Given the description of an element on the screen output the (x, y) to click on. 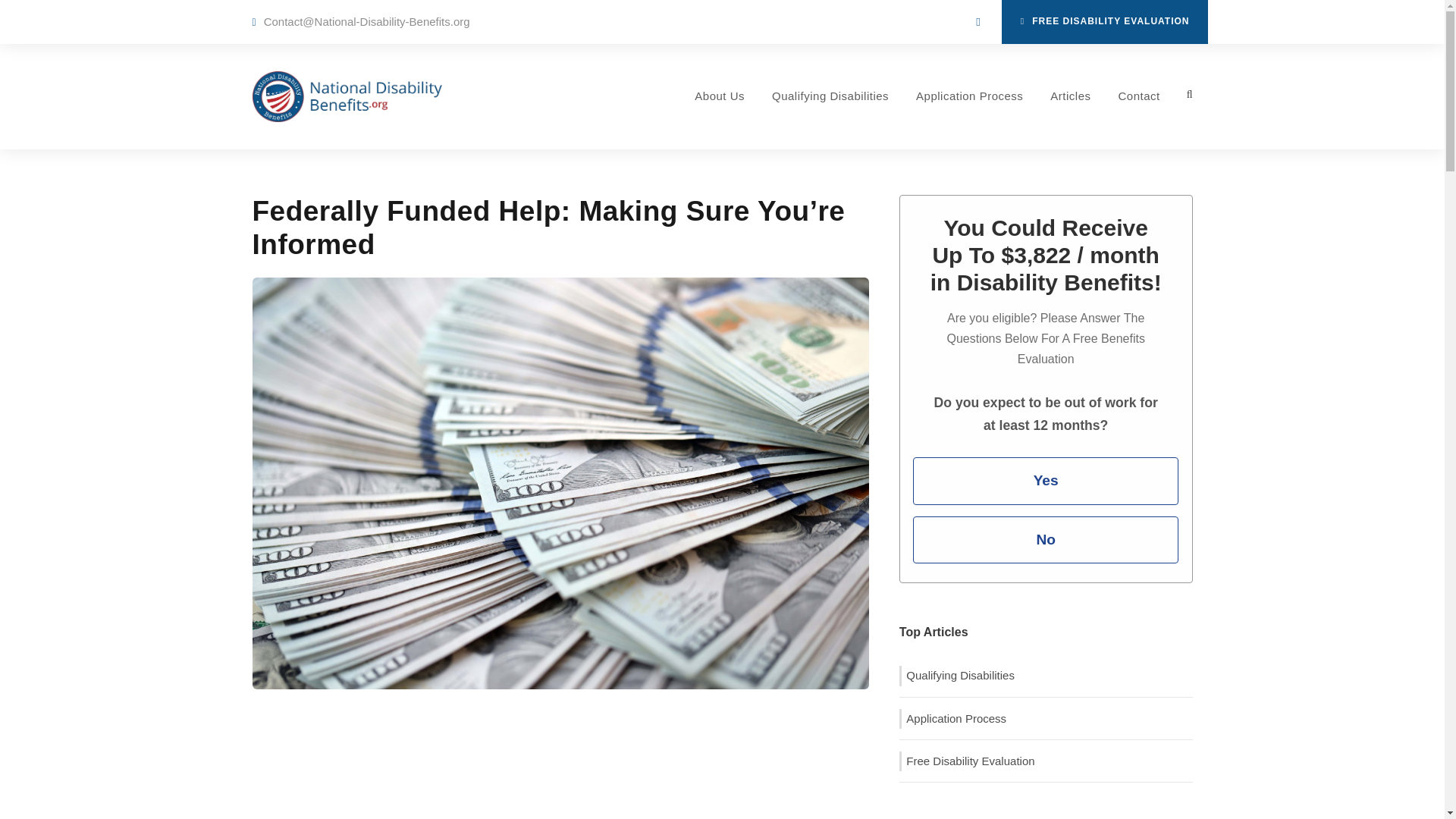
Qualifying Disabilities (829, 117)
Application Process (969, 117)
logo (346, 96)
Yes (1044, 481)
Advertisement (560, 761)
FREE DISABILITY EVALUATION (1104, 22)
